Given the description of an element on the screen output the (x, y) to click on. 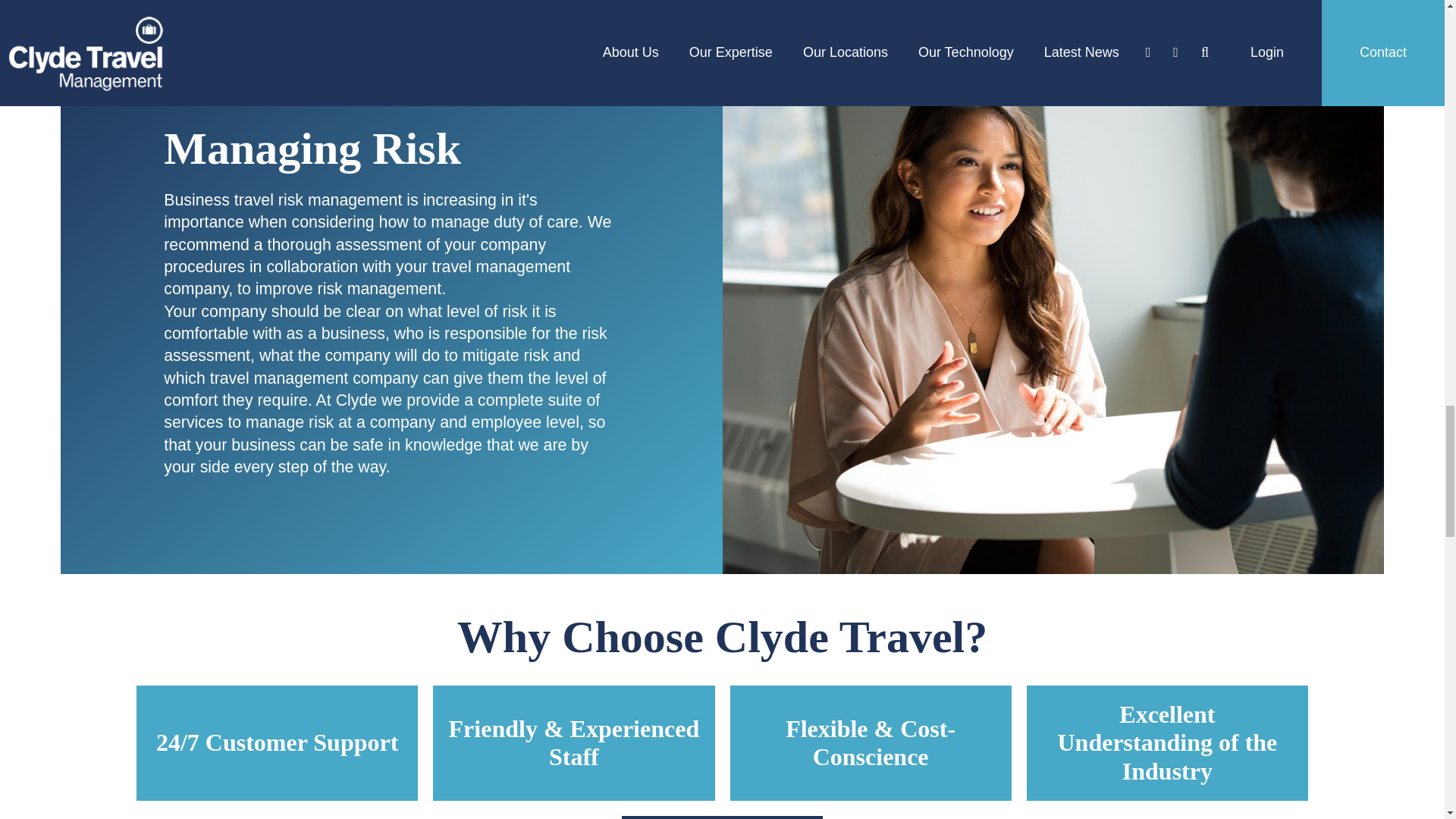
Find Your Local Office (721, 817)
